Given the description of an element on the screen output the (x, y) to click on. 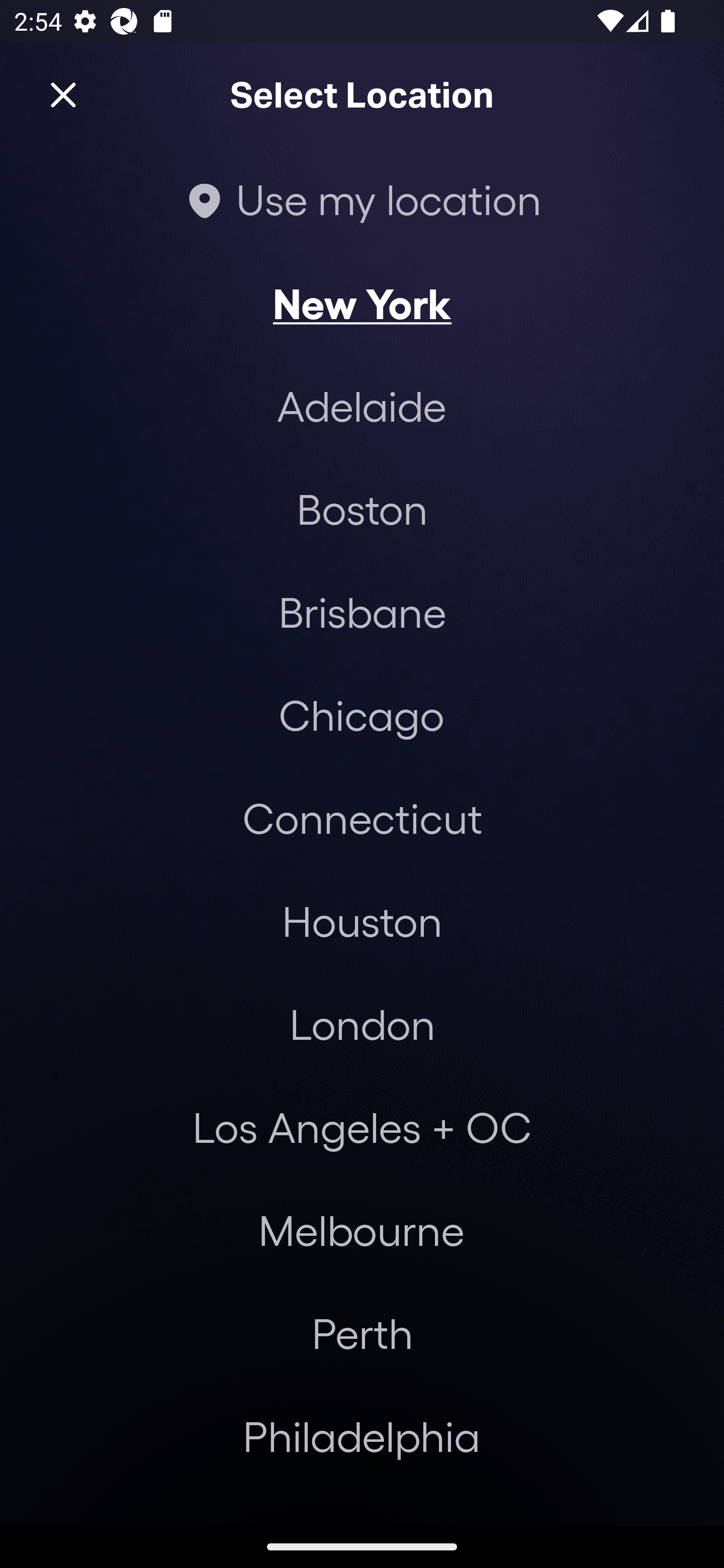
Close (62, 95)
   Use my location (362, 198)
New York (361, 302)
Adelaide (361, 405)
Boston (361, 508)
Brisbane (361, 611)
Chicago (361, 714)
Connecticut (361, 817)
Houston (361, 920)
London (361, 1023)
Los Angeles + OC (361, 1127)
Melbourne (361, 1230)
Perth (361, 1332)
Philadelphia (361, 1436)
